Given the description of an element on the screen output the (x, y) to click on. 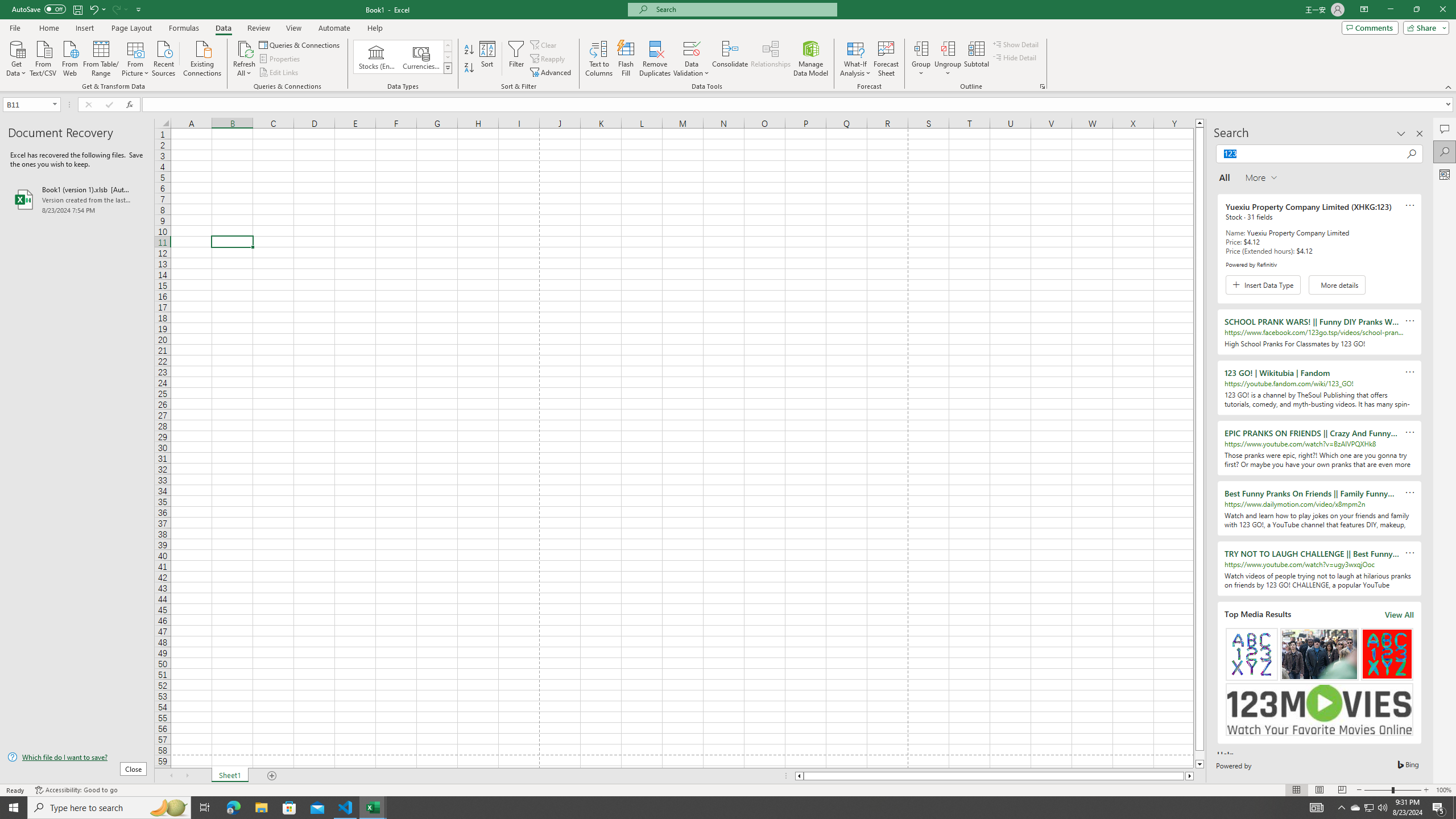
Get Data (16, 57)
Recent Sources (163, 57)
Relationships (770, 58)
Data Types (448, 67)
